Given the description of an element on the screen output the (x, y) to click on. 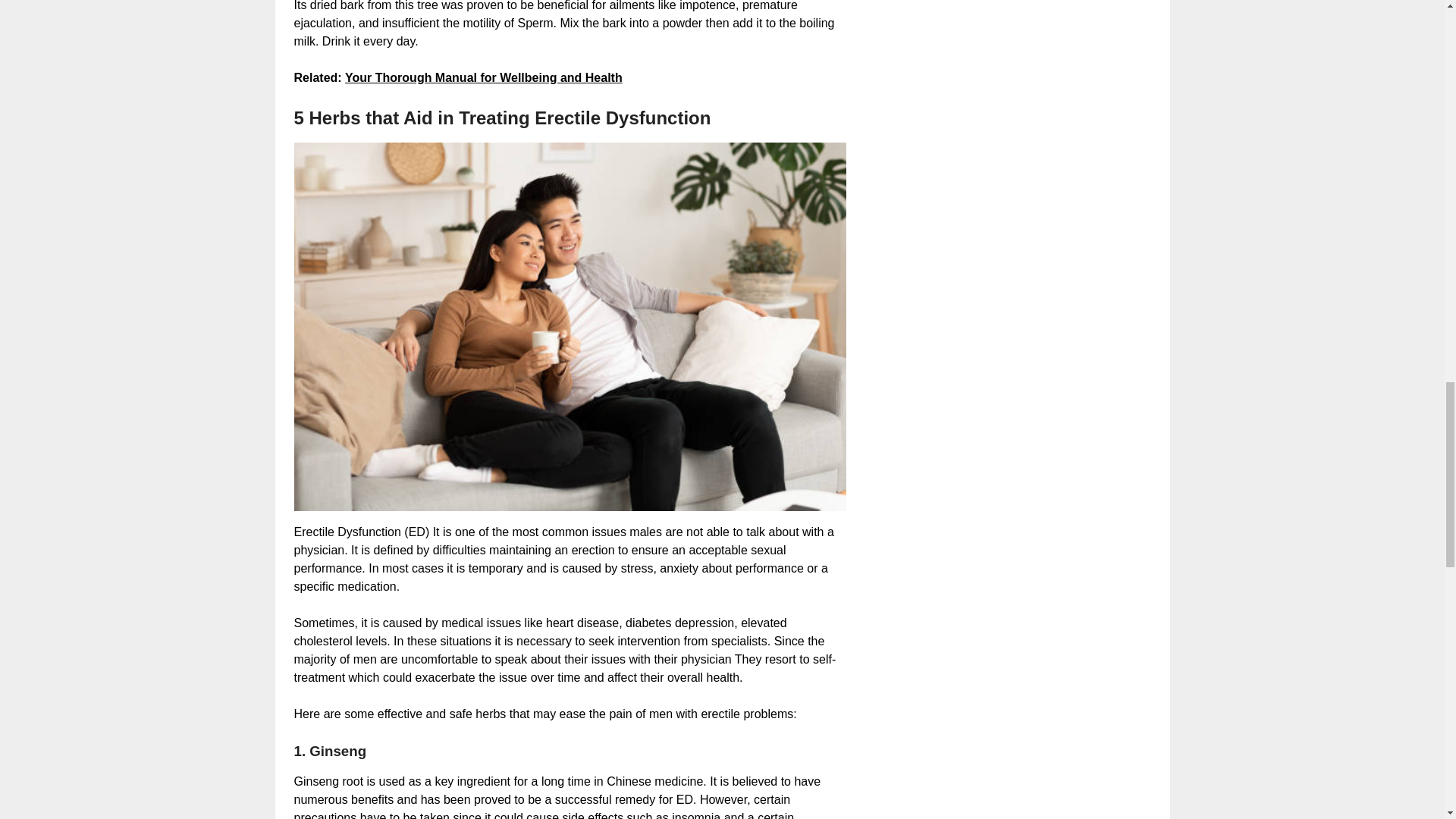
Your Thorough Manual for Wellbeing and Health (484, 77)
